Given the description of an element on the screen output the (x, y) to click on. 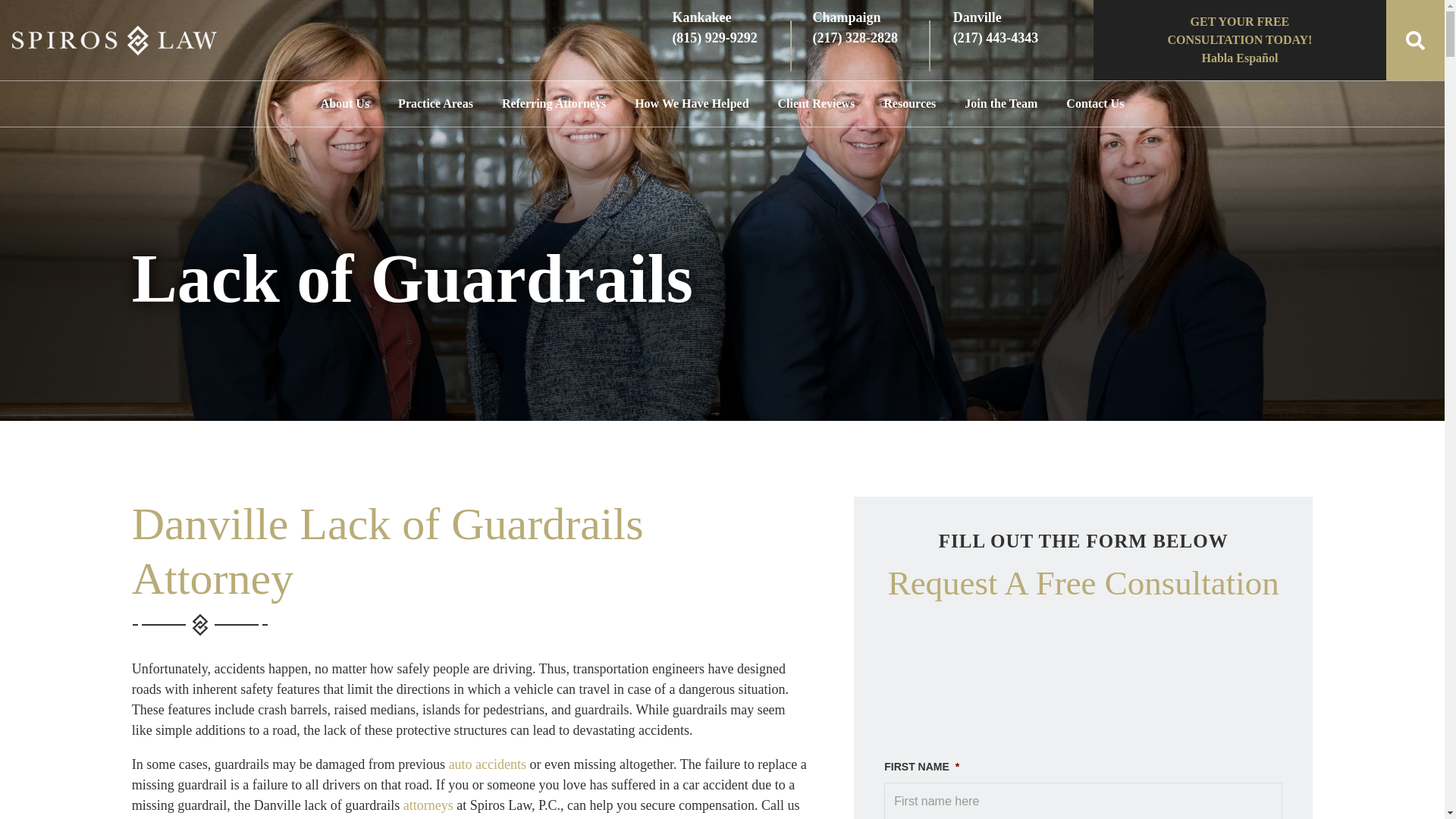
Contact Us (1095, 103)
Contact Us (1095, 103)
How We Have Helped (691, 103)
Join the Team (1000, 103)
Client Reviews (816, 103)
attorneys (427, 805)
Referring Attorneys (553, 103)
Contact (1239, 39)
Resources (909, 103)
Practice Areas (435, 103)
